Given the description of an element on the screen output the (x, y) to click on. 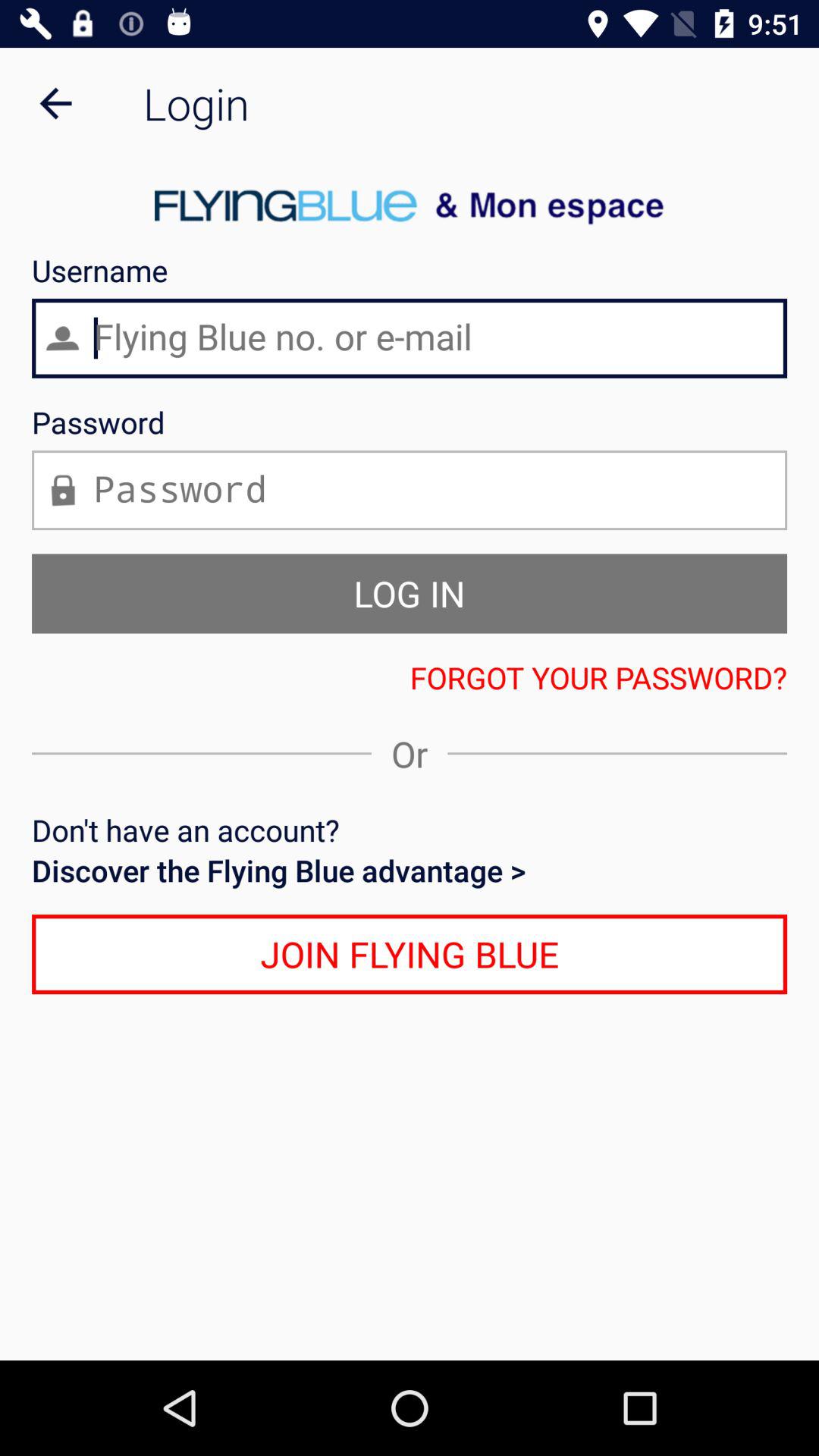
select the item above forgot your password? (409, 593)
